Given the description of an element on the screen output the (x, y) to click on. 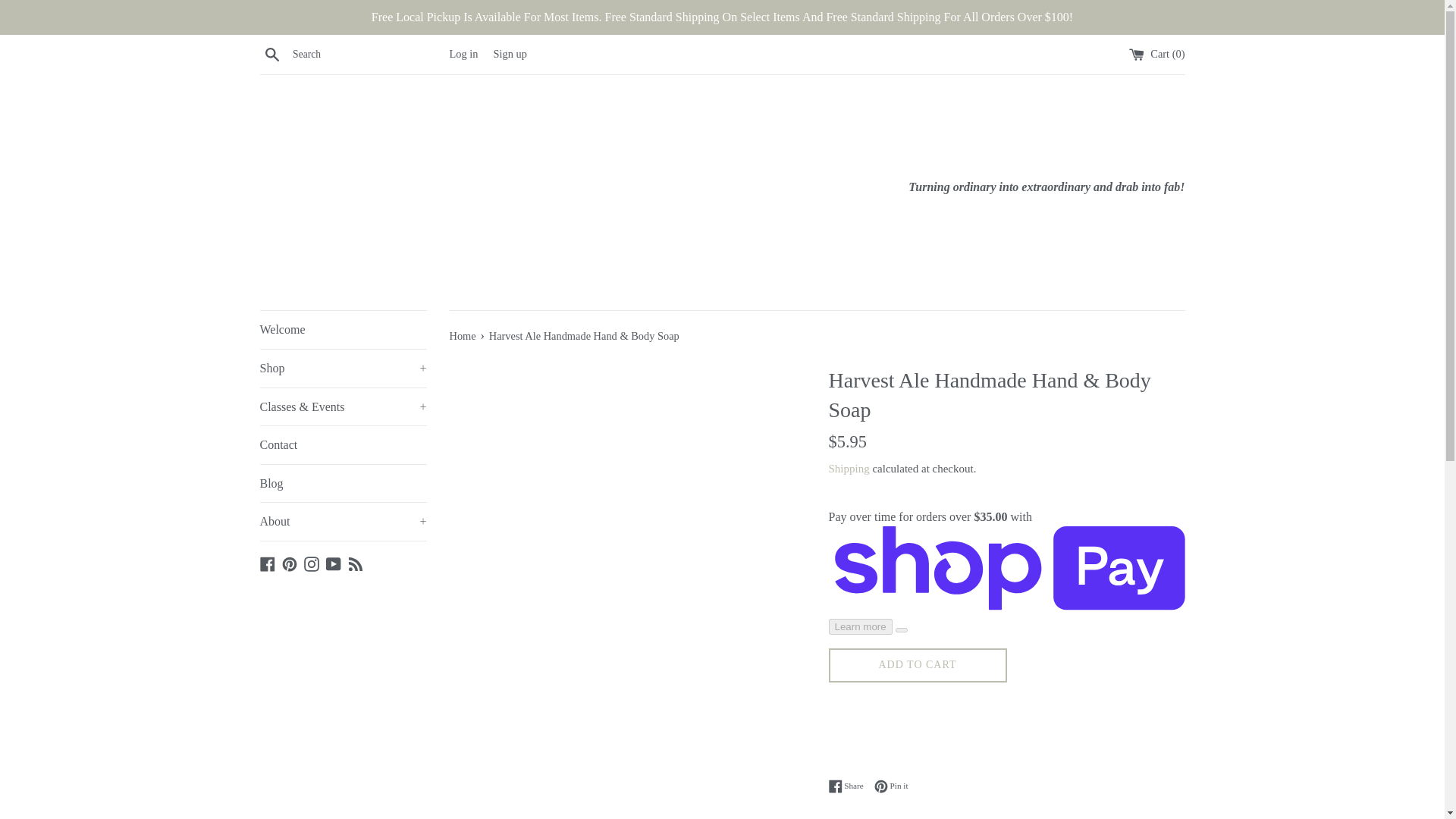
Pin on Pinterest (891, 786)
Pinterest (289, 562)
Flippin' Fabulous LLC on YouTube (333, 562)
Log in (462, 53)
Flippin' Fabulous LLC on Instagram (310, 562)
Search (271, 53)
Back to the frontpage (463, 336)
Blog (342, 483)
Instagram (310, 562)
Flippin' Fabulous LLC on Pinterest (289, 562)
Share on Facebook (849, 786)
Blog (354, 562)
Contact (342, 444)
Home (463, 336)
YouTube (333, 562)
